Given the description of an element on the screen output the (x, y) to click on. 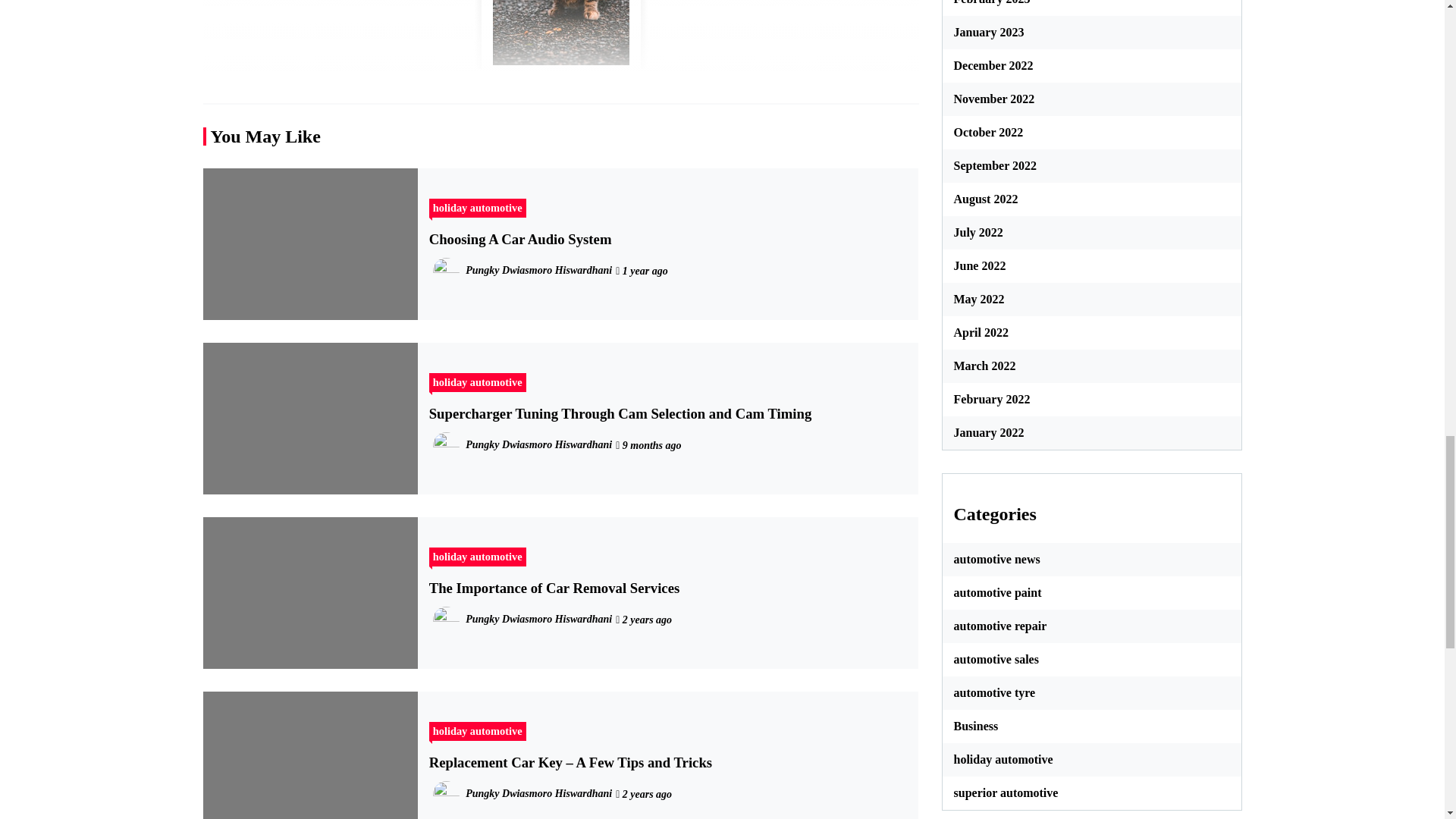
Car For Sale On The Internet (560, 38)
